Given the description of an element on the screen output the (x, y) to click on. 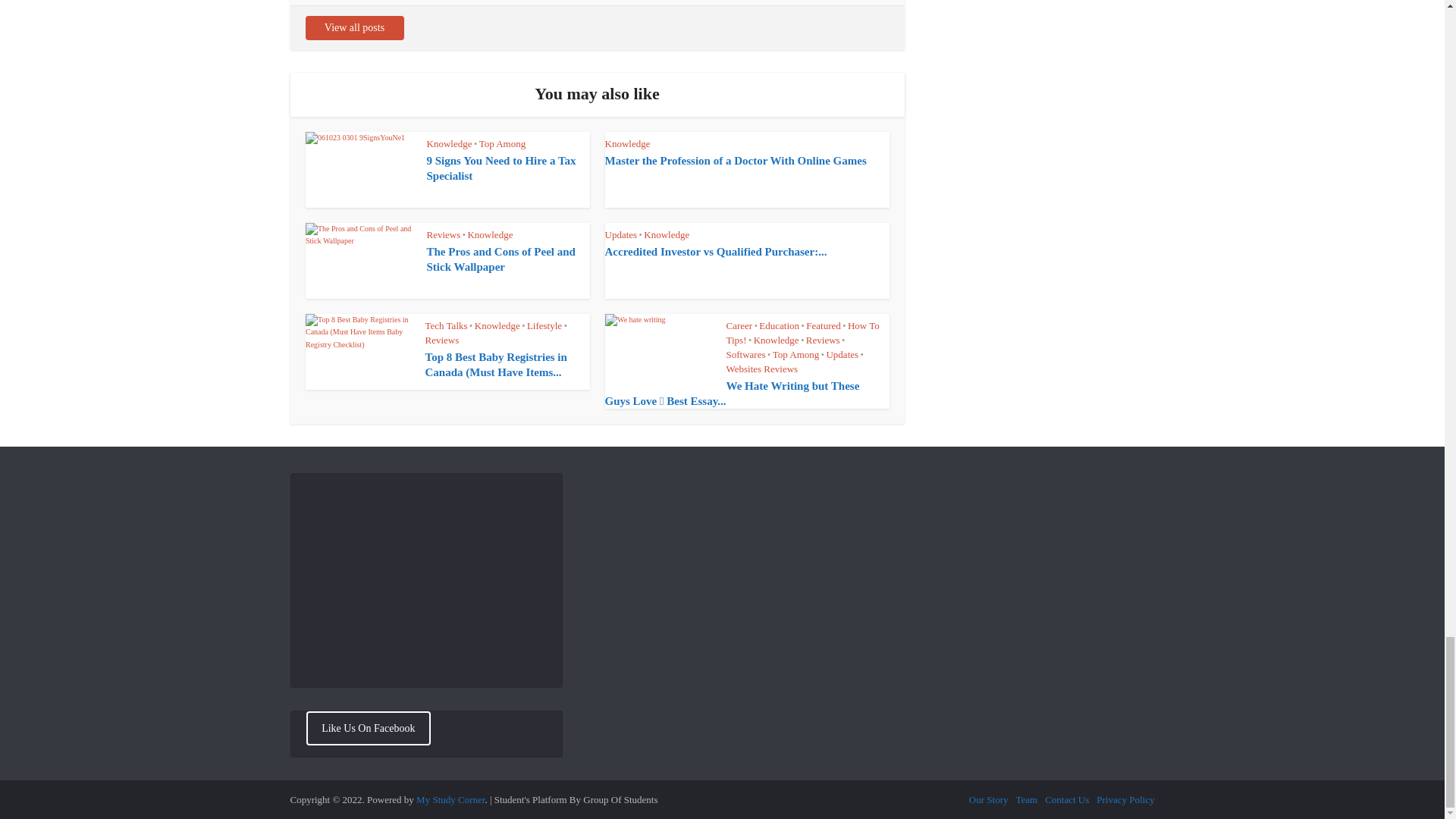
9 Signs You Need to Hire a Tax Specialist (500, 167)
9 Signs You Need to Hire a Tax Specialist 4 (359, 169)
Master the Profession of a Doctor With Online Games (735, 160)
